Given the description of an element on the screen output the (x, y) to click on. 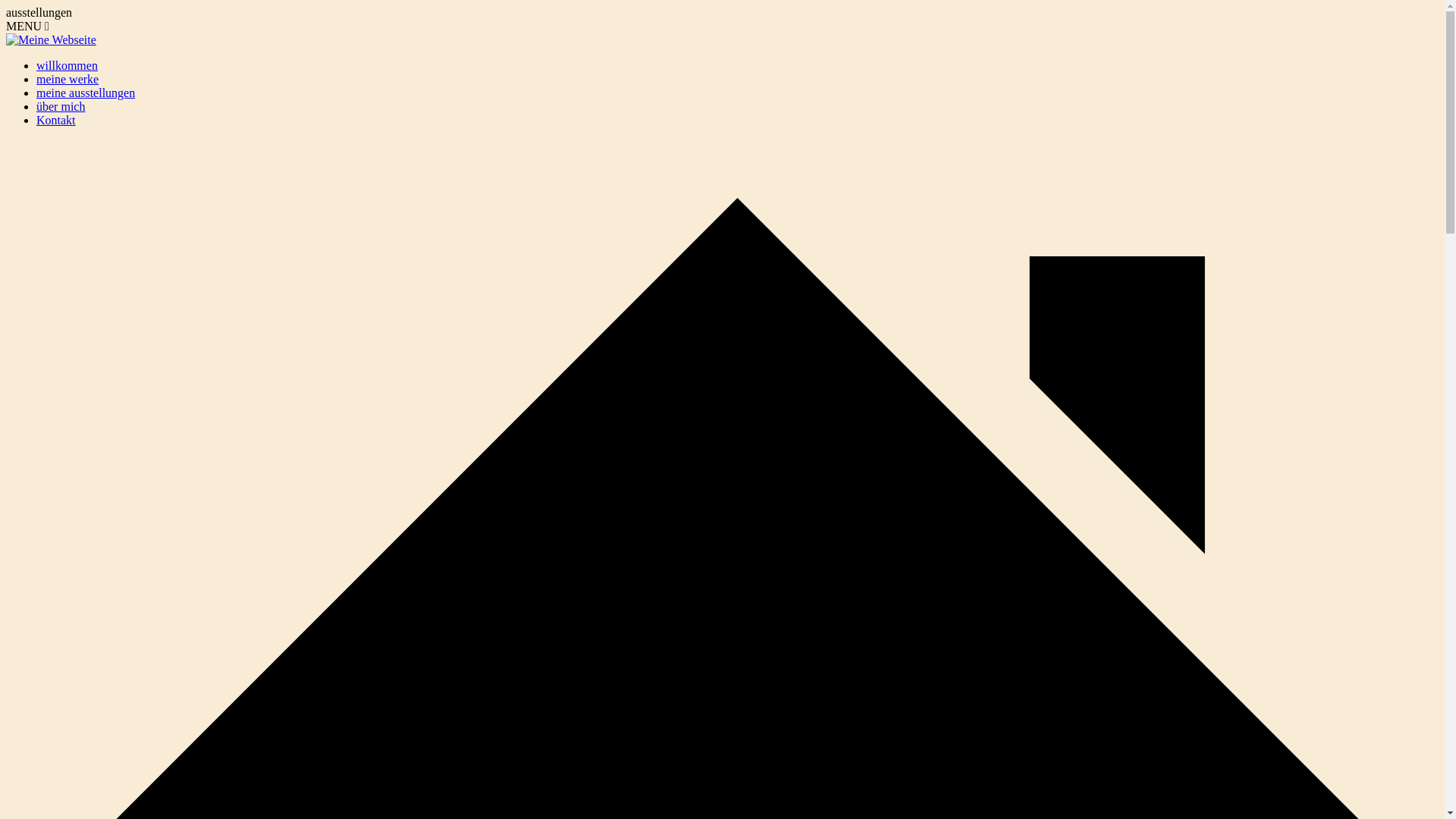
Kontakt Element type: text (55, 119)
meine ausstellungen Element type: text (85, 92)
meine werke Element type: text (67, 78)
willkommen Element type: text (66, 65)
